Given the description of an element on the screen output the (x, y) to click on. 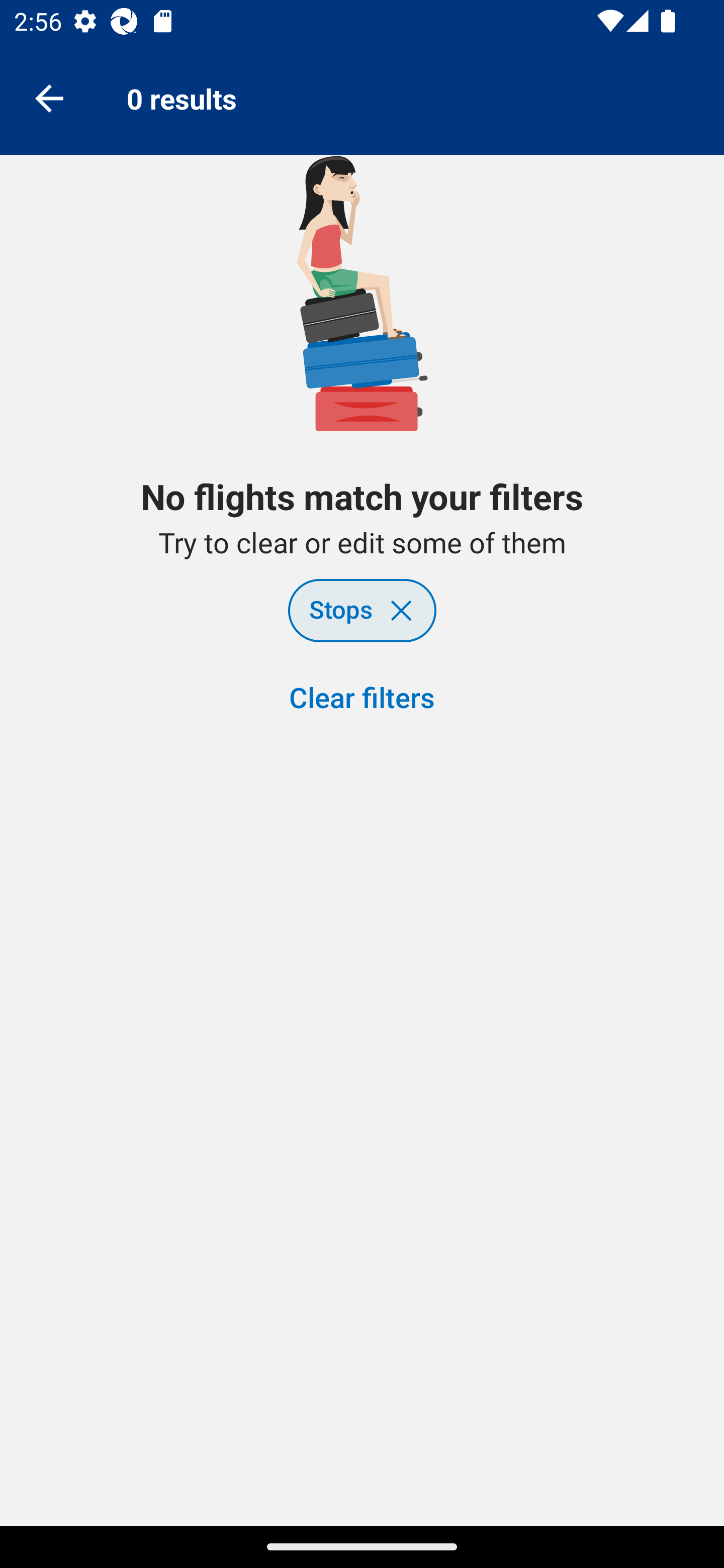
Navigate up (49, 97)
Clear filters (361, 698)
